Given the description of an element on the screen output the (x, y) to click on. 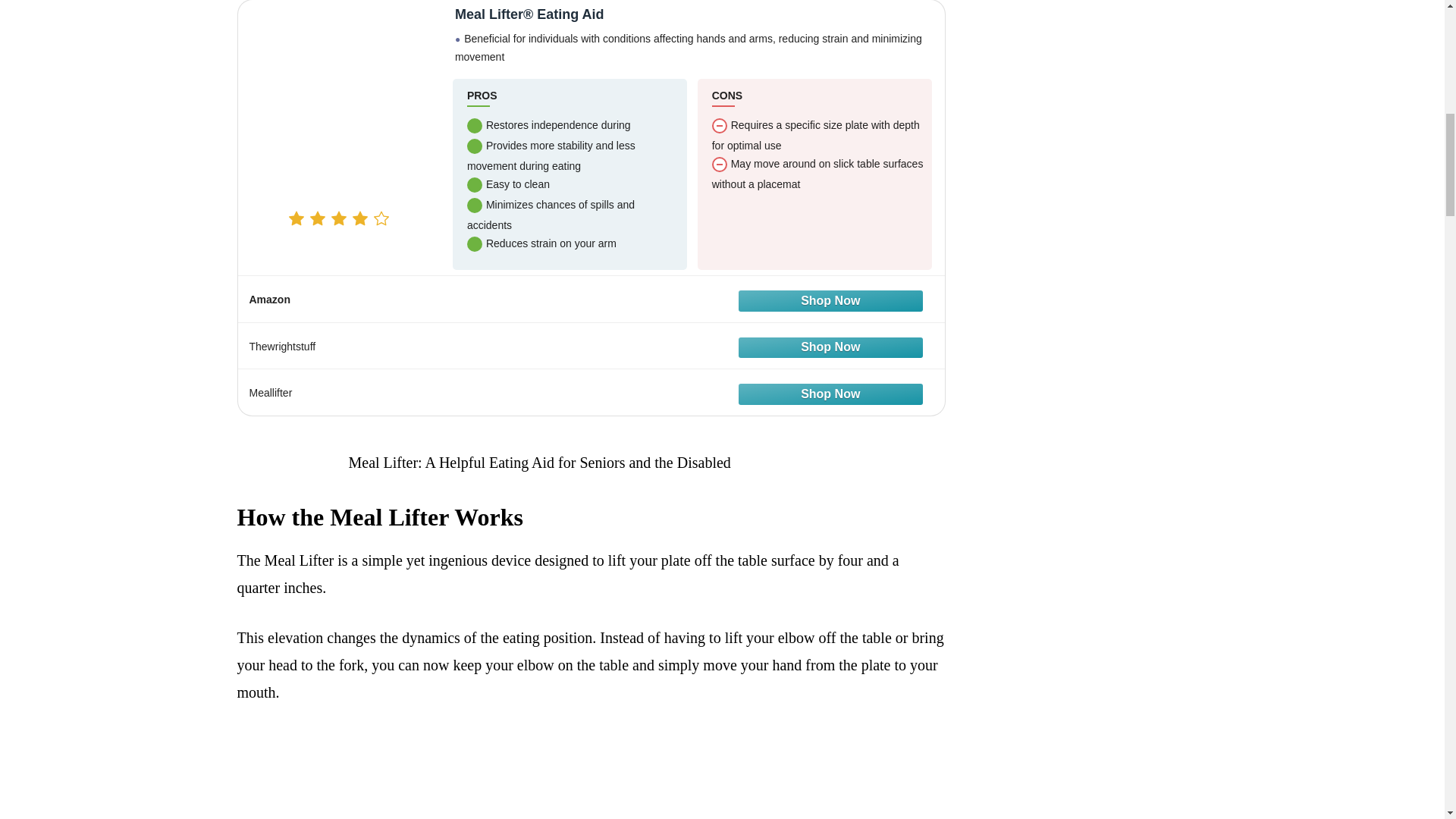
Scroll back to top (1406, 720)
Thewrightstuff (590, 345)
Amazon (590, 298)
Meallifter (590, 391)
